Given the description of an element on the screen output the (x, y) to click on. 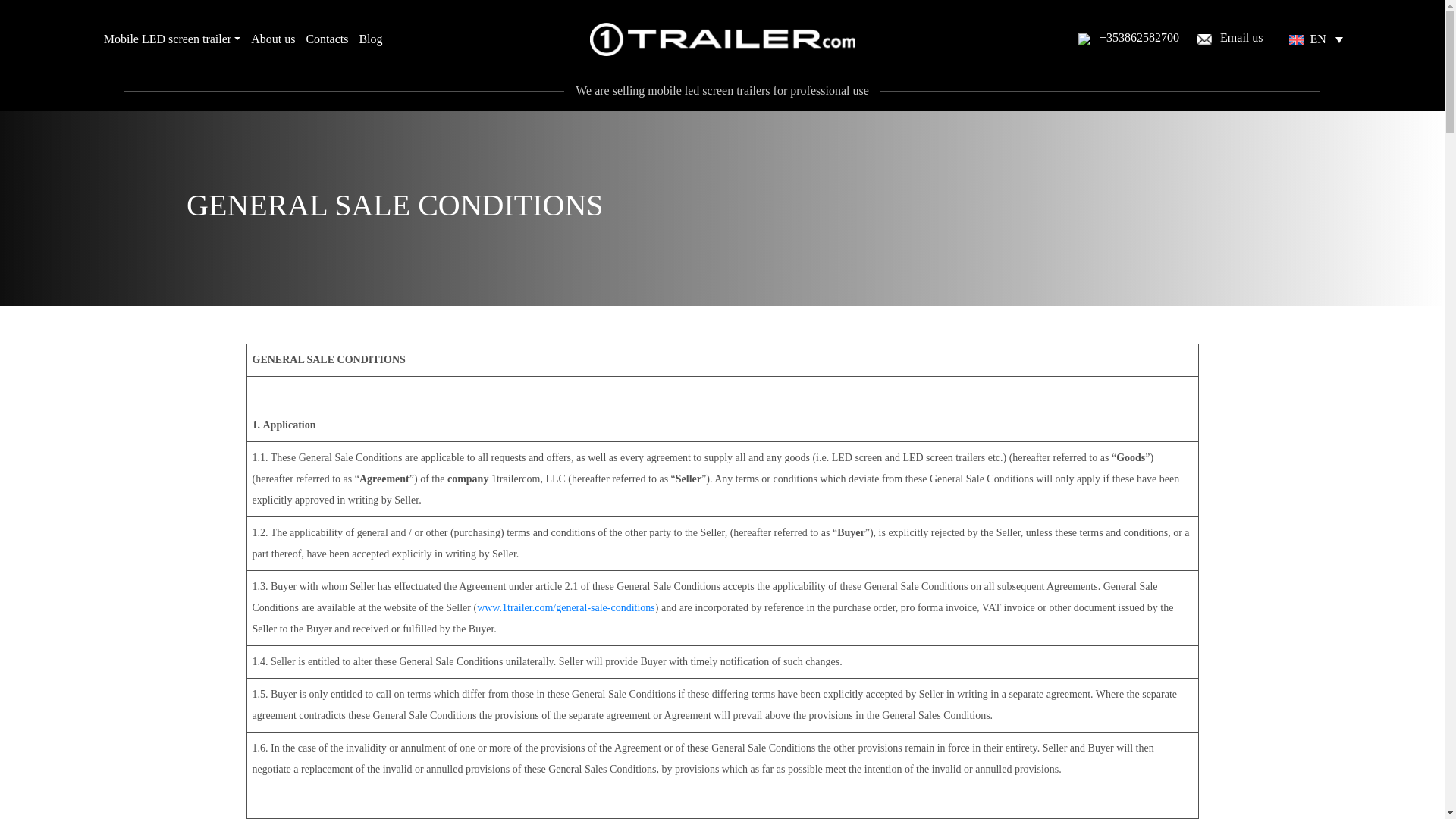
+353862582700 Element type: text (1128, 38)
Email us Element type: text (1229, 38)
Contacts Element type: text (326, 39)
Blog Element type: text (370, 39)
www.1trailer.com/general-sale-conditions Element type: text (565, 607)
About us Element type: text (272, 39)
Mobile LED screen trailer Element type: text (171, 39)
EN Element type: text (1316, 38)
